Given the description of an element on the screen output the (x, y) to click on. 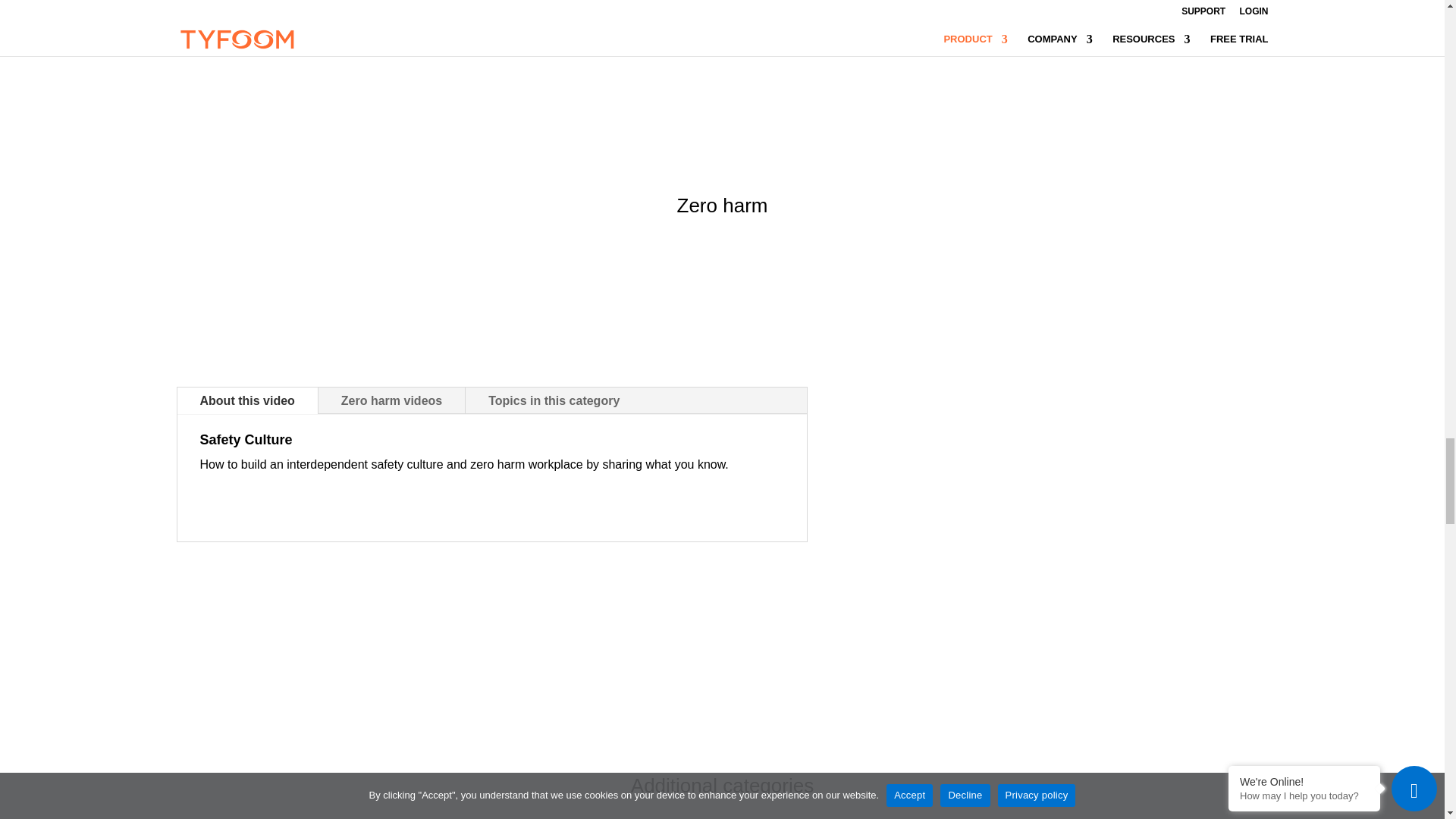
Safety Culture (1067, 499)
